Given the description of an element on the screen output the (x, y) to click on. 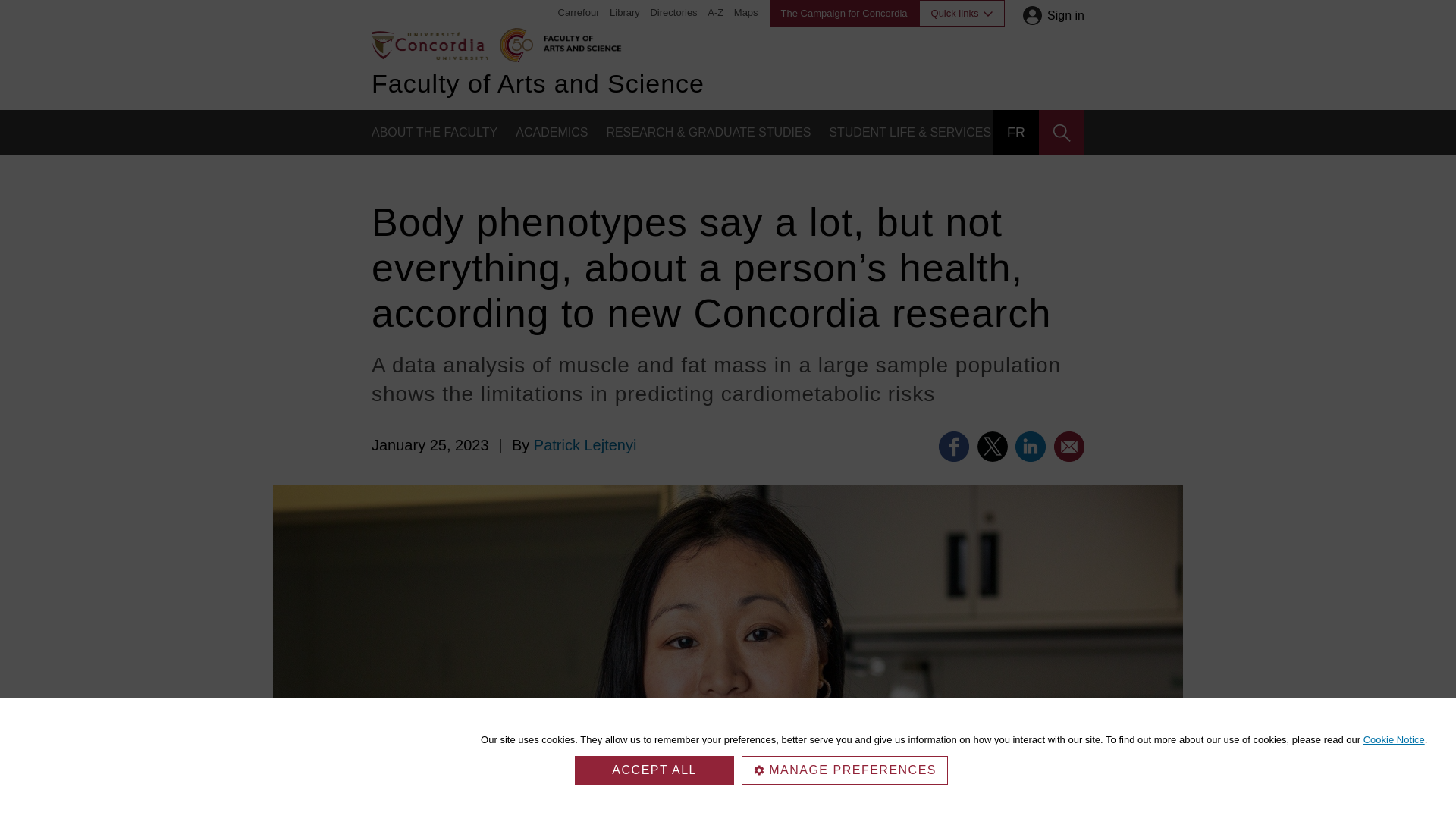
Library (625, 12)
Back to home (429, 44)
Faculty of Arts and Science (579, 41)
Share on Facebook (954, 446)
ACCEPT ALL (654, 769)
Share on LinkedIn (1029, 446)
MANAGE PREFERENCES (844, 769)
Email this story (1069, 446)
Cookie Notice (1393, 739)
Carrefour (578, 12)
Share on Twitter (991, 446)
